Given the description of an element on the screen output the (x, y) to click on. 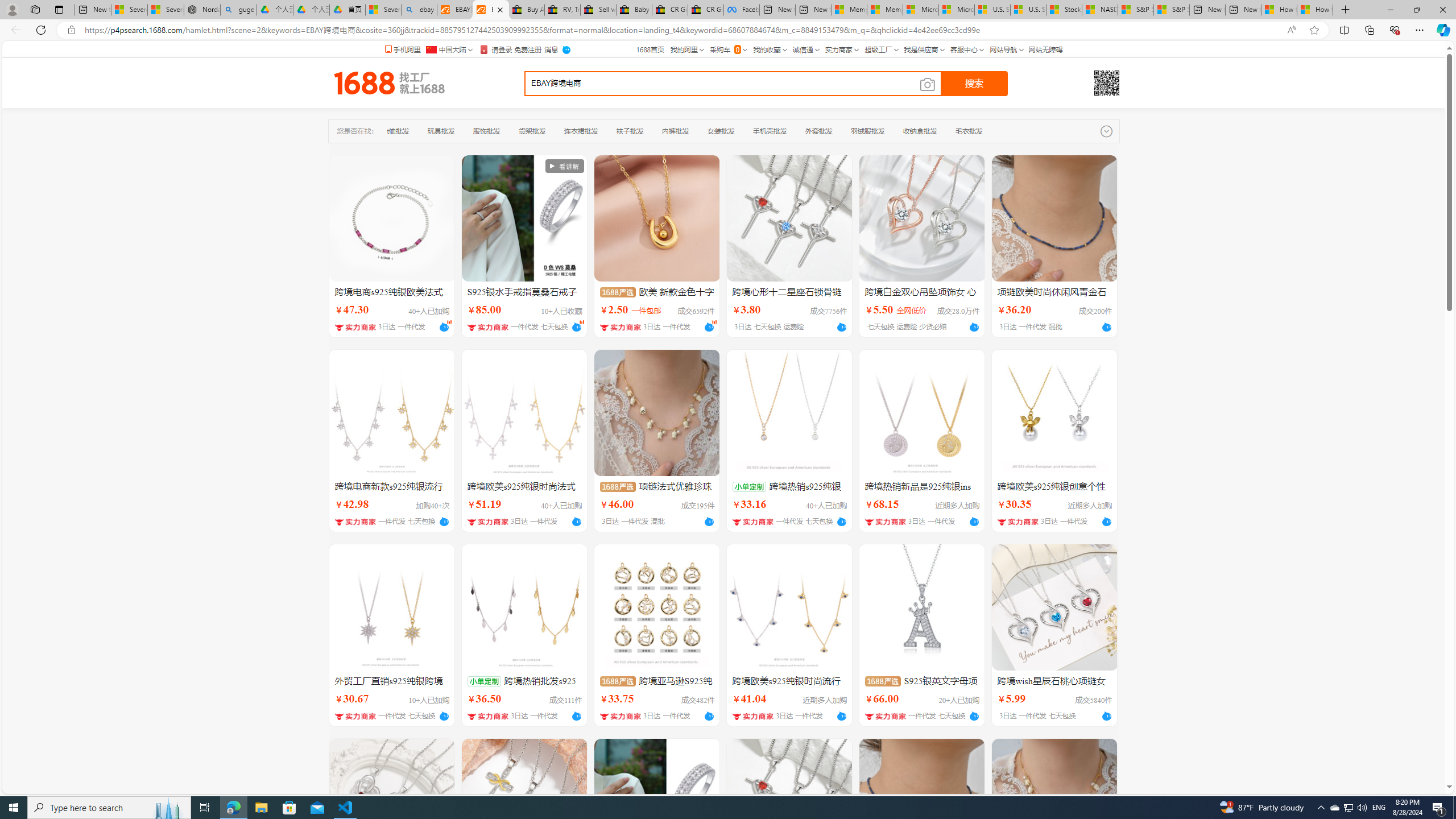
Class: sw-logo (388, 83)
To get missing image descriptions, open the context menu. (563, 165)
